Given the description of an element on the screen output the (x, y) to click on. 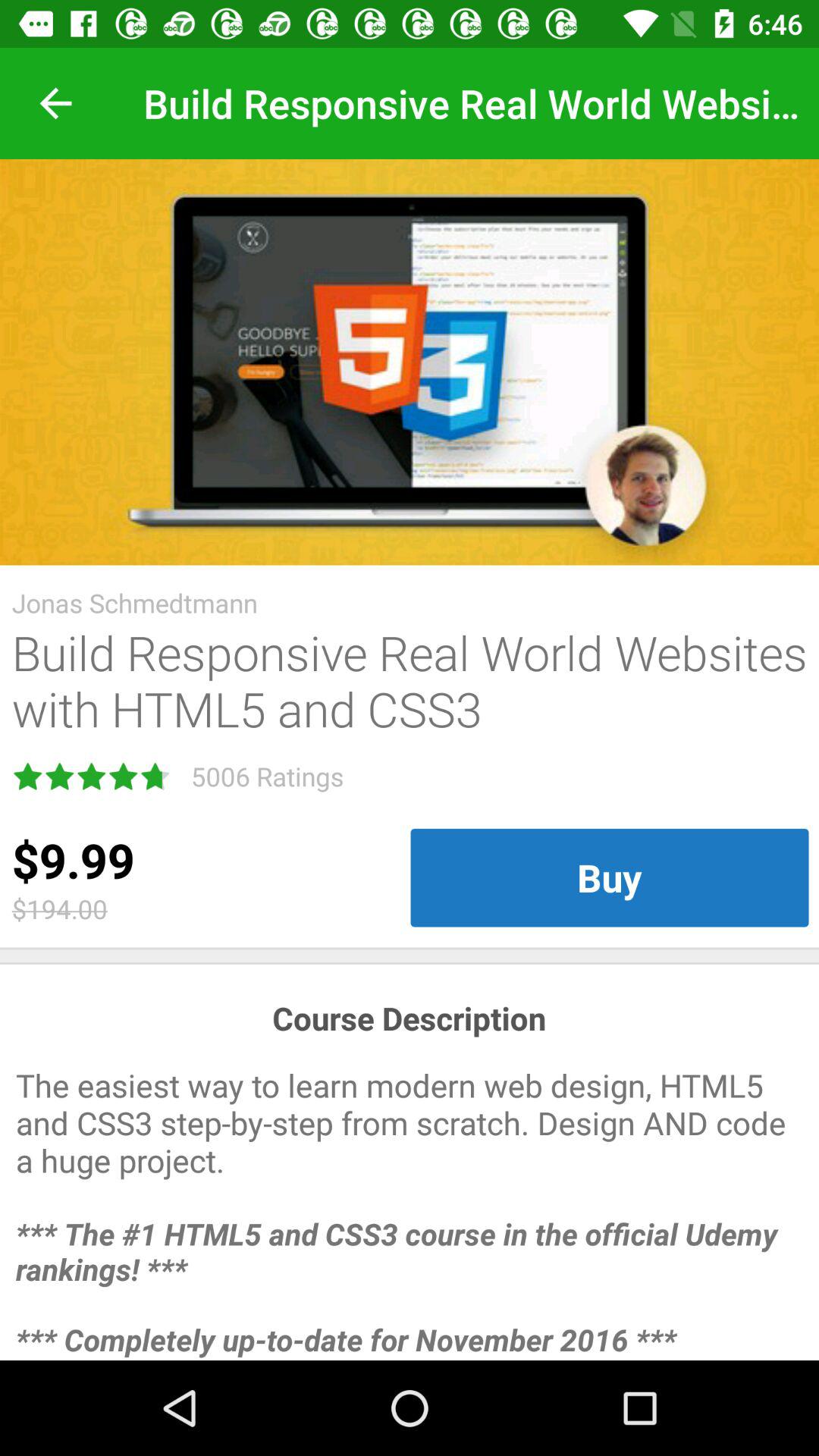
turn off item at the top left corner (55, 103)
